Given the description of an element on the screen output the (x, y) to click on. 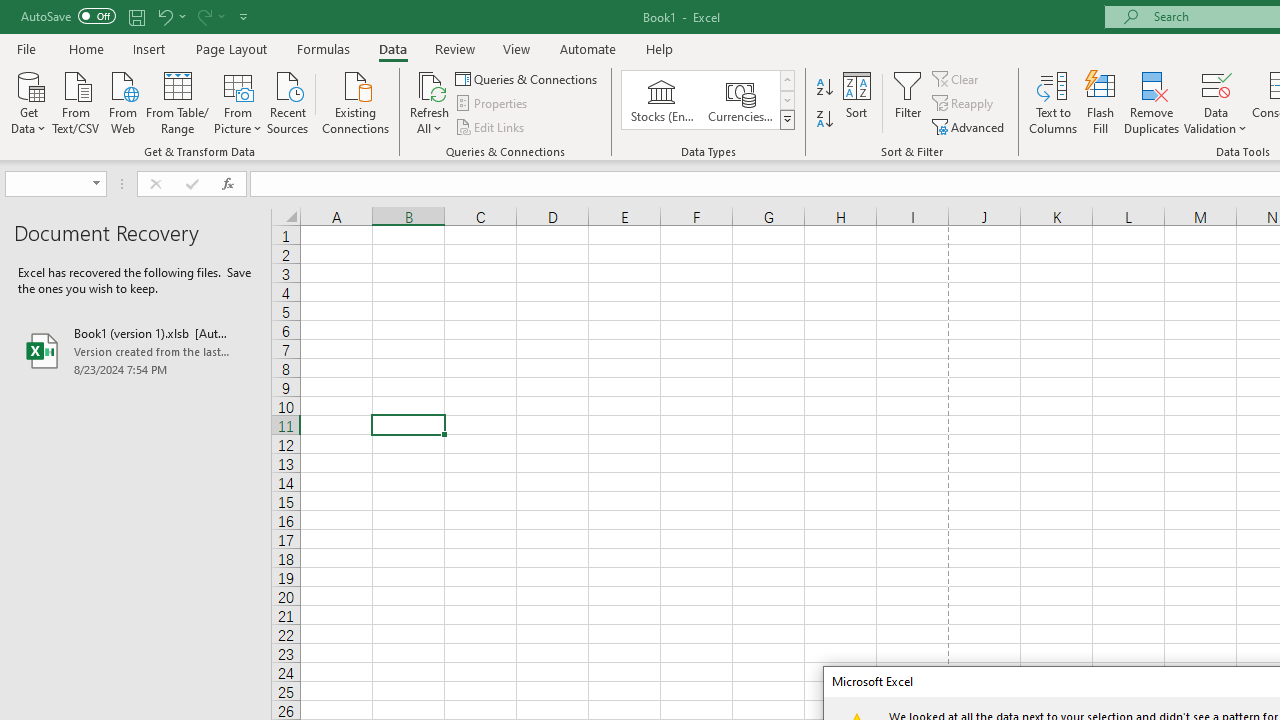
Flash Fill (1101, 102)
Properties (492, 103)
Queries & Connections (527, 78)
From Web (122, 101)
Recent Sources (287, 101)
Advanced... (970, 126)
